Given the description of an element on the screen output the (x, y) to click on. 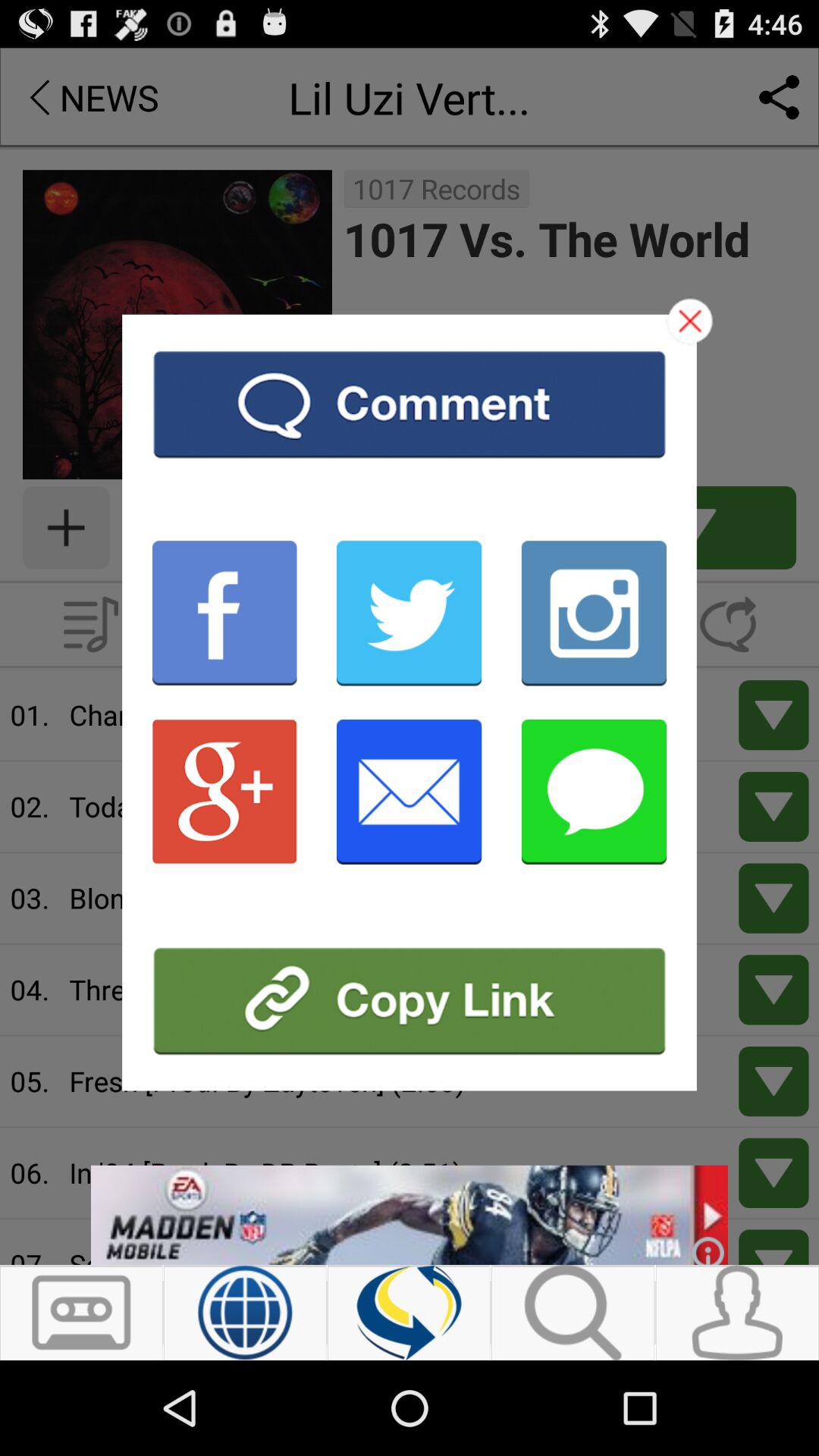
click for google plus (224, 791)
